Given the description of an element on the screen output the (x, y) to click on. 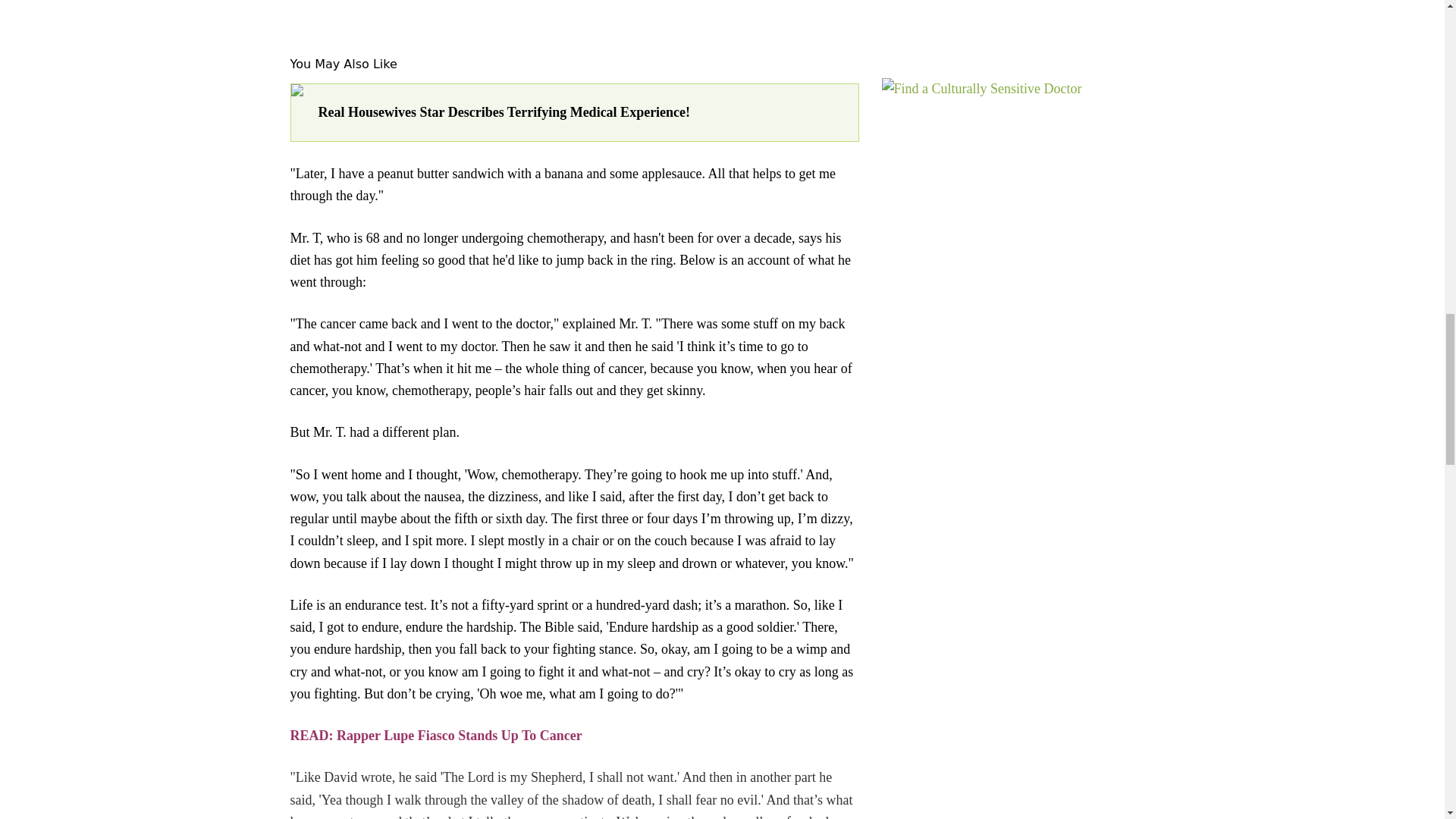
READ: Rapper Lupe Fiasco Stands Up To Cancer (434, 735)
